Given the description of an element on the screen output the (x, y) to click on. 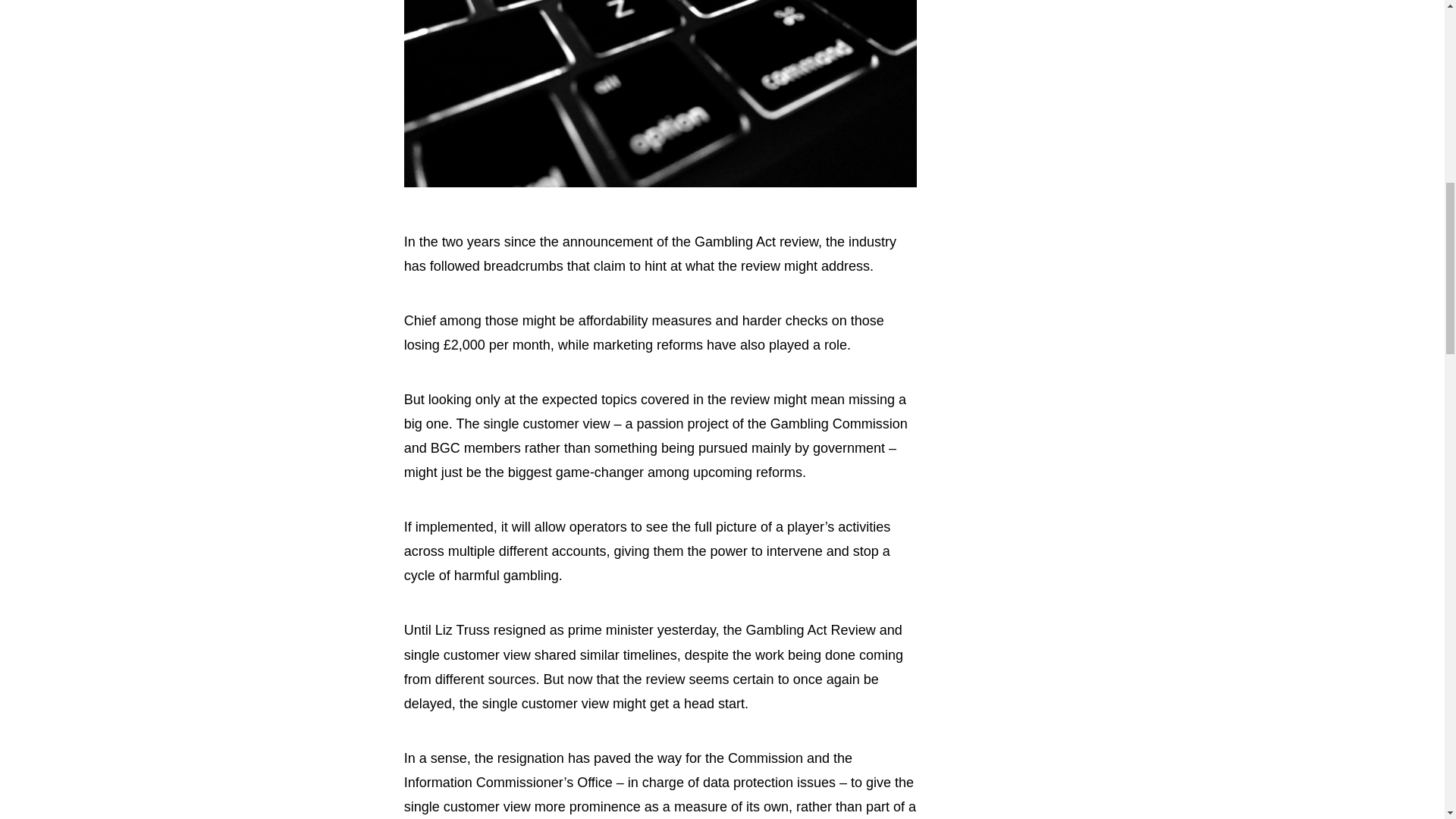
3rd party ad content (1090, 572)
